Given the description of an element on the screen output the (x, y) to click on. 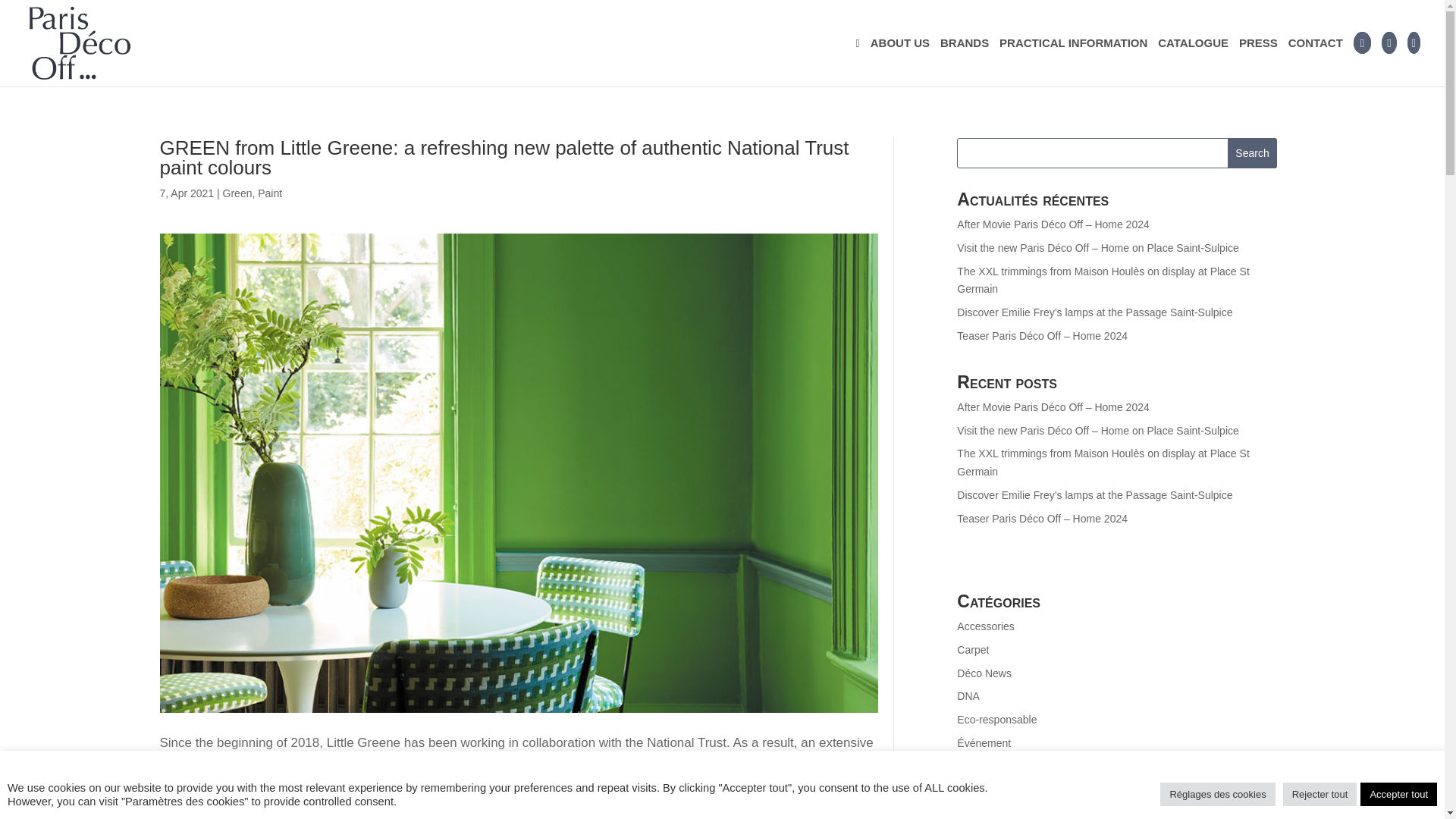
Green (236, 193)
ABOUT US (900, 61)
PRACTICAL INFORMATION (1072, 61)
BRANDS (964, 61)
Paint (269, 193)
Accessories (984, 625)
CONTACT (1315, 61)
Search (1252, 153)
Carpet (972, 649)
CATALOGUE (1192, 61)
